Given the description of an element on the screen output the (x, y) to click on. 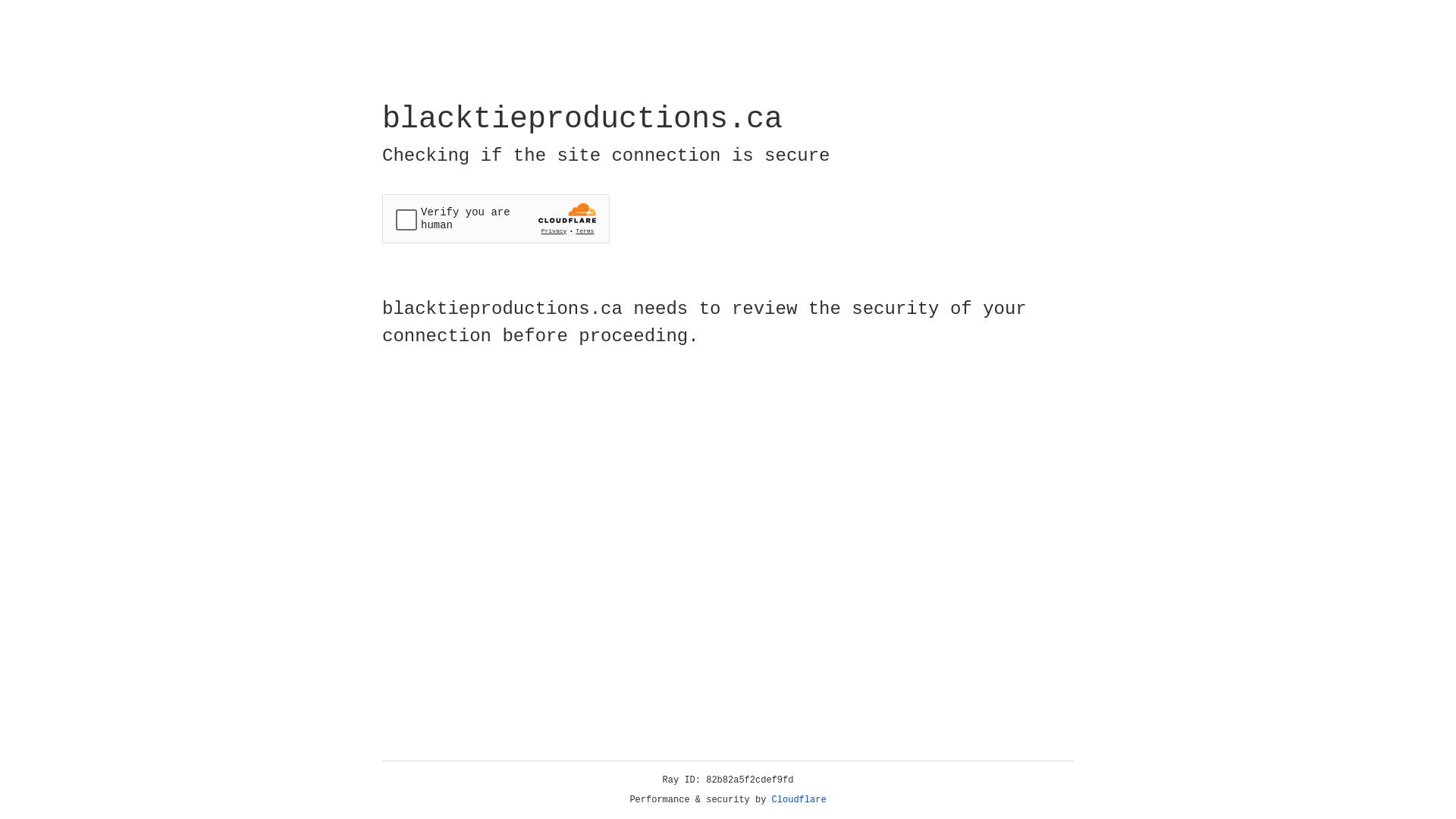
Widget containing a Cloudflare security challenge Element type: hover (495, 218)
Cloudflare Element type: text (798, 799)
